Given the description of an element on the screen output the (x, y) to click on. 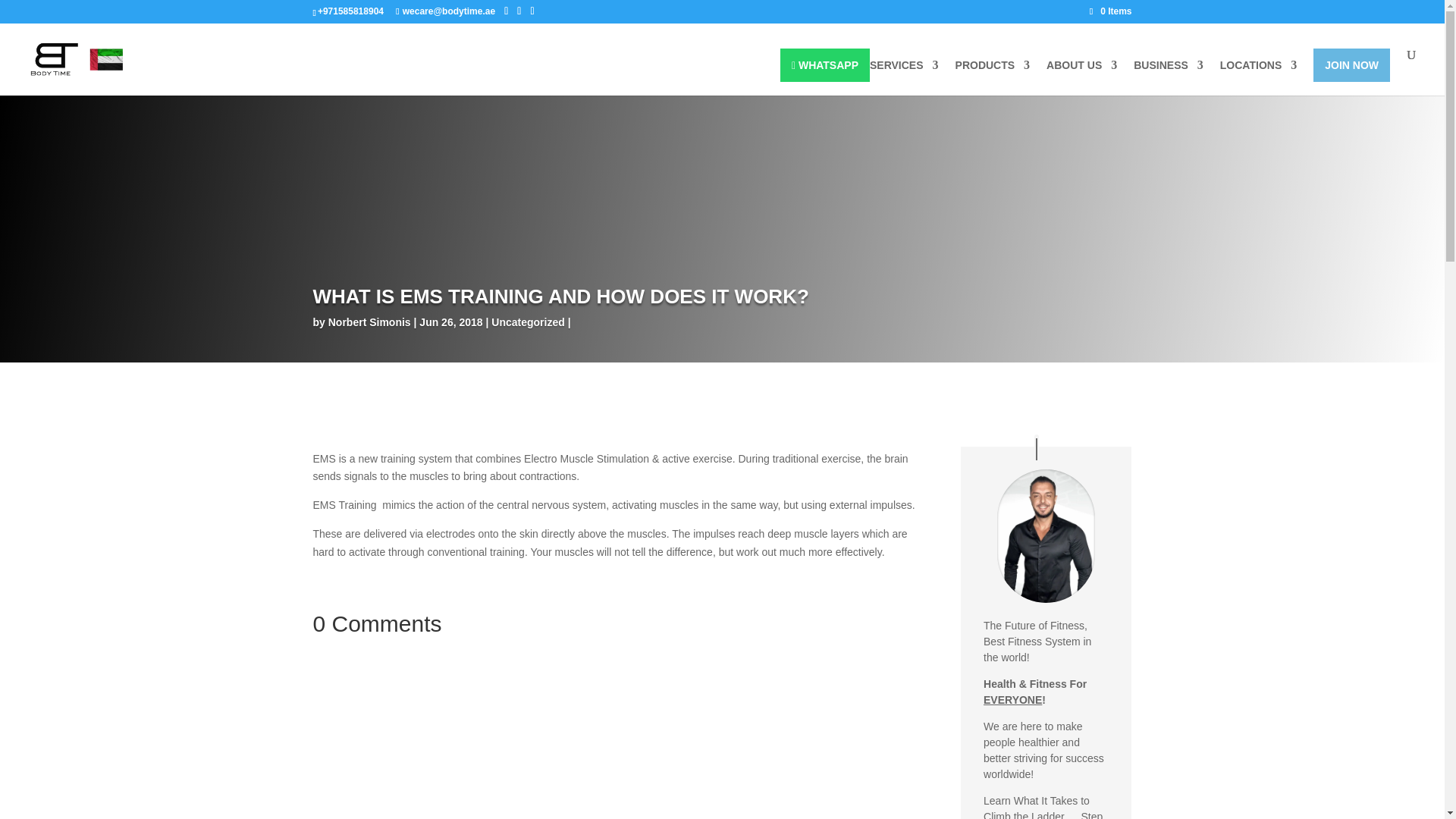
PRODUCTS (992, 77)
SERVICES (904, 77)
Posts by Norbert Simonis (369, 322)
0 Items (1110, 10)
ABOUT US (1081, 77)
